Given the description of an element on the screen output the (x, y) to click on. 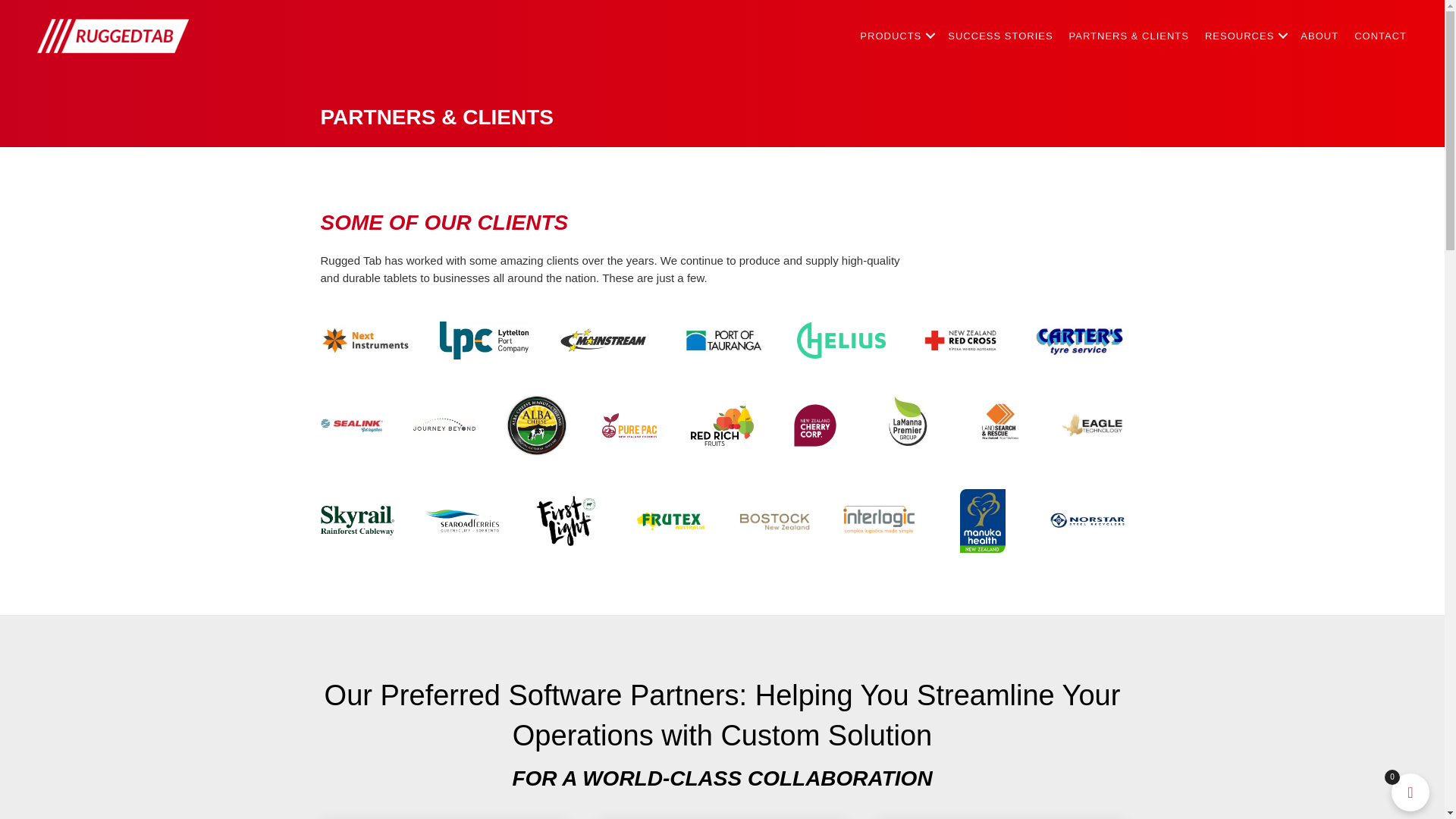
Helius-Brandmark (840, 339)
RESOURCES (1244, 35)
cherry (814, 424)
logo-transparent-updated-white (113, 35)
journey (444, 425)
Purepac-Logo (628, 425)
SAR (999, 424)
CONTACT (1379, 35)
carters-tyre-service-new-plymouth (1079, 340)
mainstream (603, 340)
PRODUCTS (895, 35)
lpc (483, 340)
port (722, 339)
sealink (350, 425)
alba (536, 424)
